Given the description of an element on the screen output the (x, y) to click on. 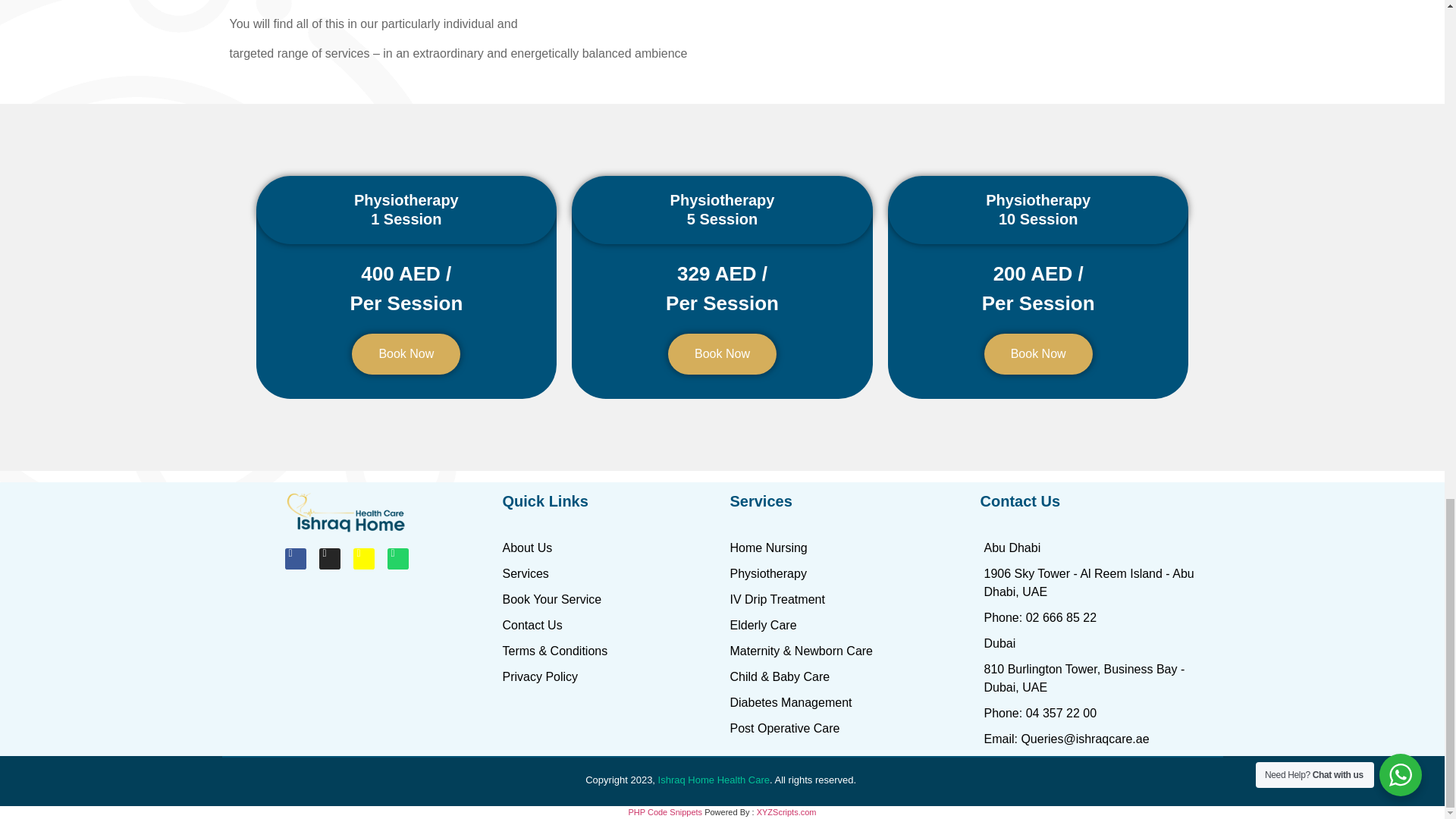
Book Now (722, 353)
Book Now (406, 353)
Book Now (1038, 353)
Insert PHP Snippet Wordpress Plugin (664, 811)
